Given the description of an element on the screen output the (x, y) to click on. 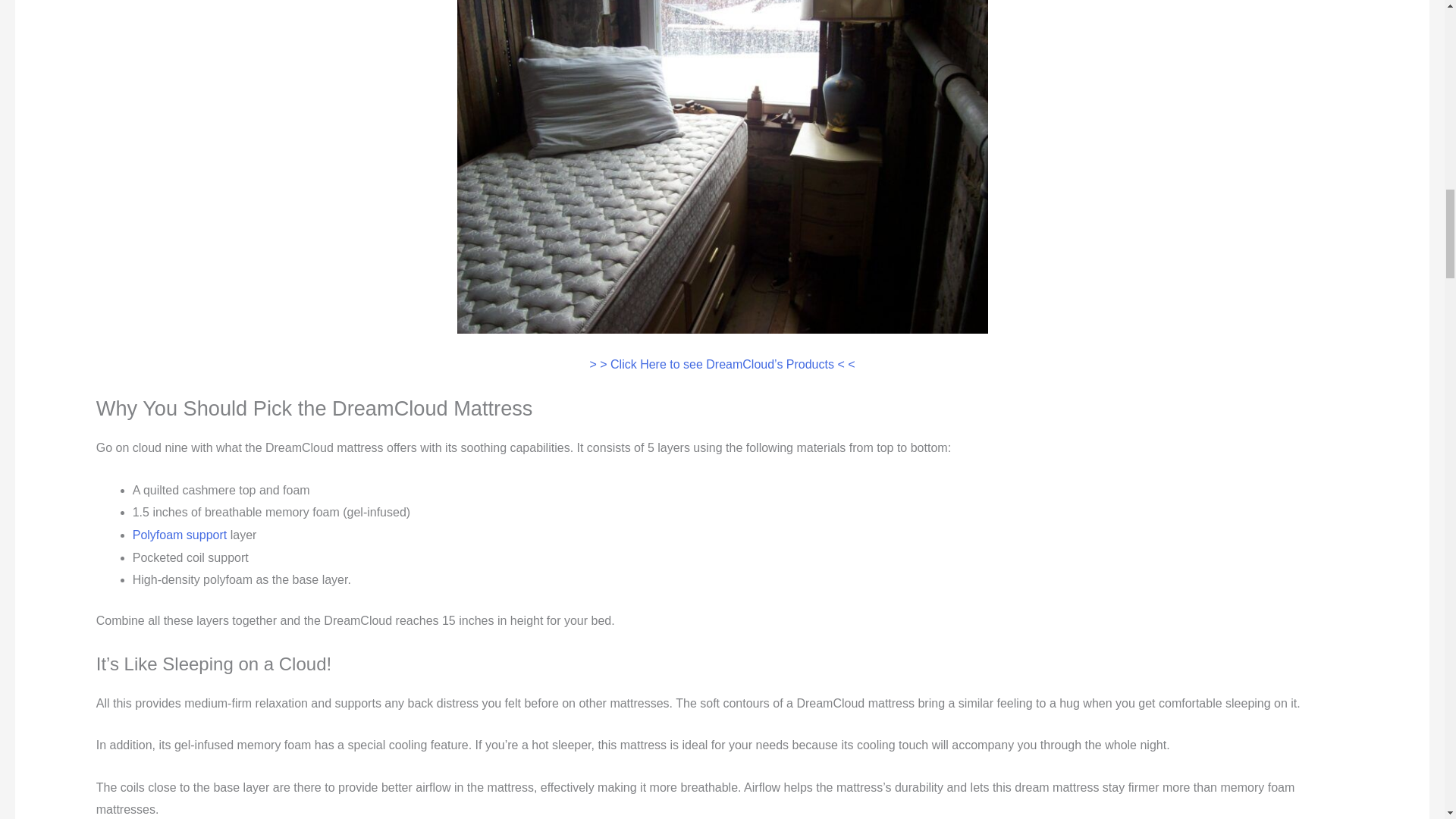
Polyfoam support (179, 534)
